Given the description of an element on the screen output the (x, y) to click on. 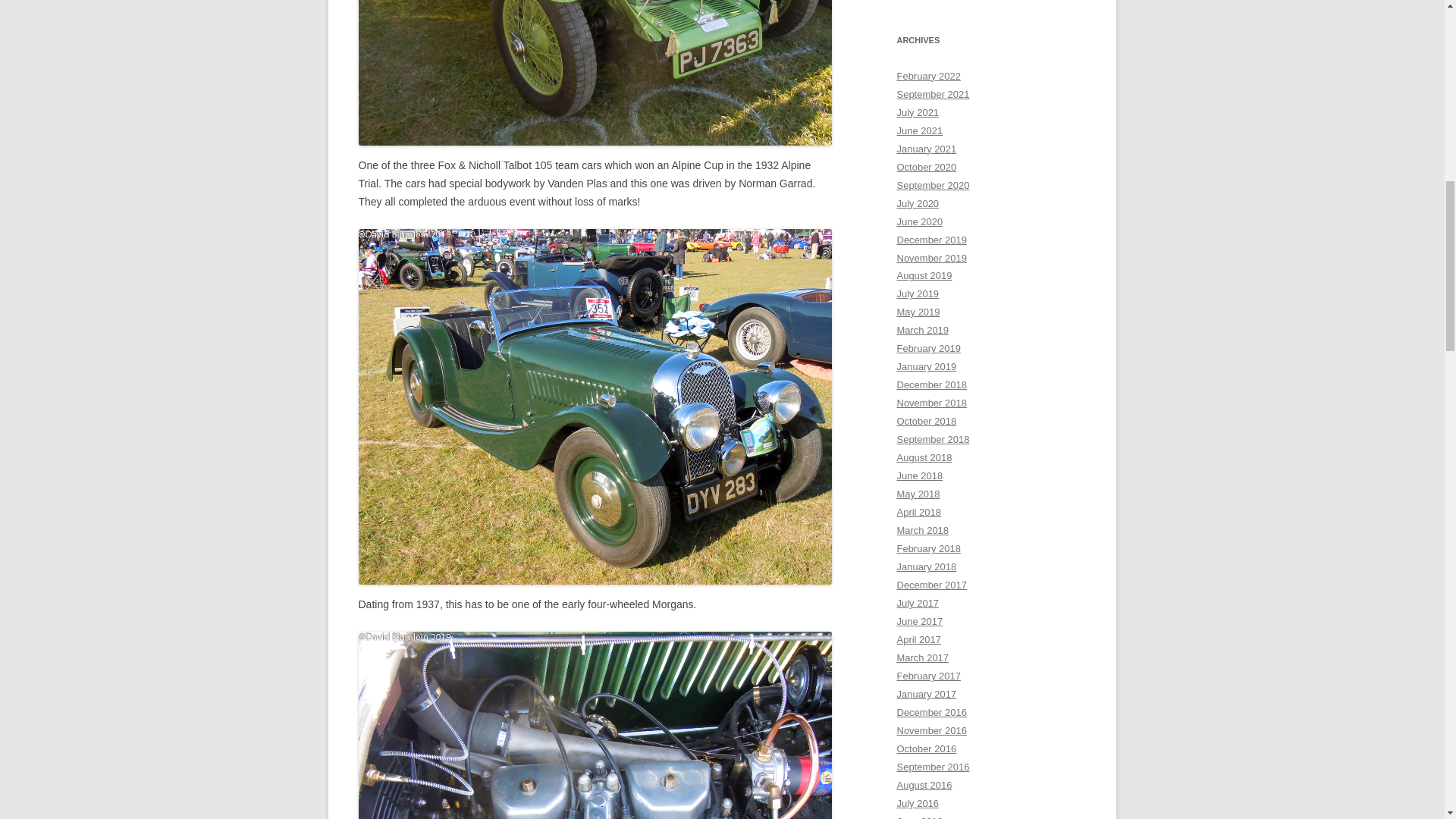
June 2021 (919, 130)
September 2020 (932, 184)
September 2021 (932, 93)
June 2020 (919, 221)
October 2020 (926, 166)
July 2021 (917, 112)
July 2020 (917, 203)
January 2021 (926, 148)
February 2022 (927, 75)
